Given the description of an element on the screen output the (x, y) to click on. 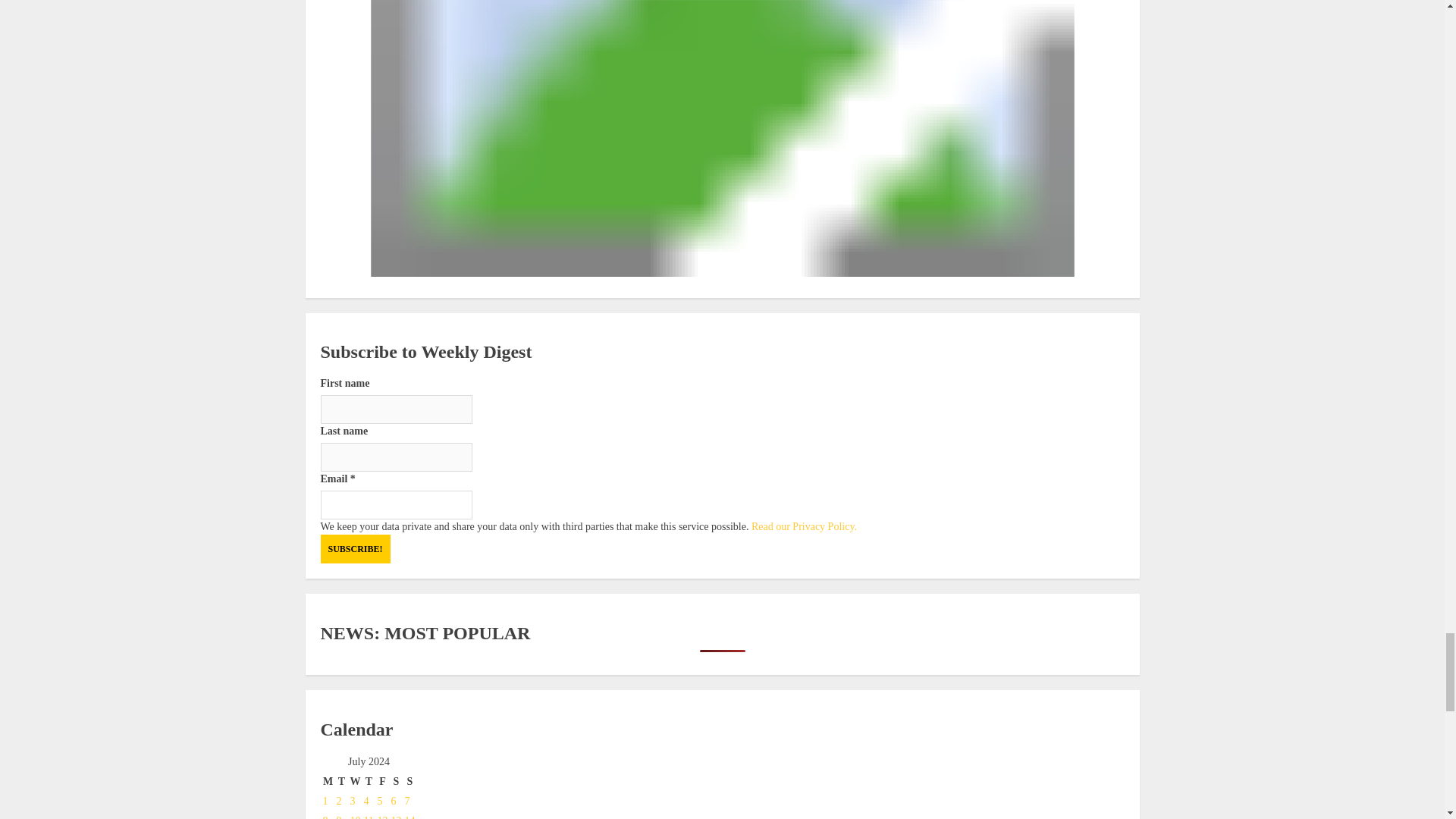
Subscribe! (355, 548)
